Given the description of an element on the screen output the (x, y) to click on. 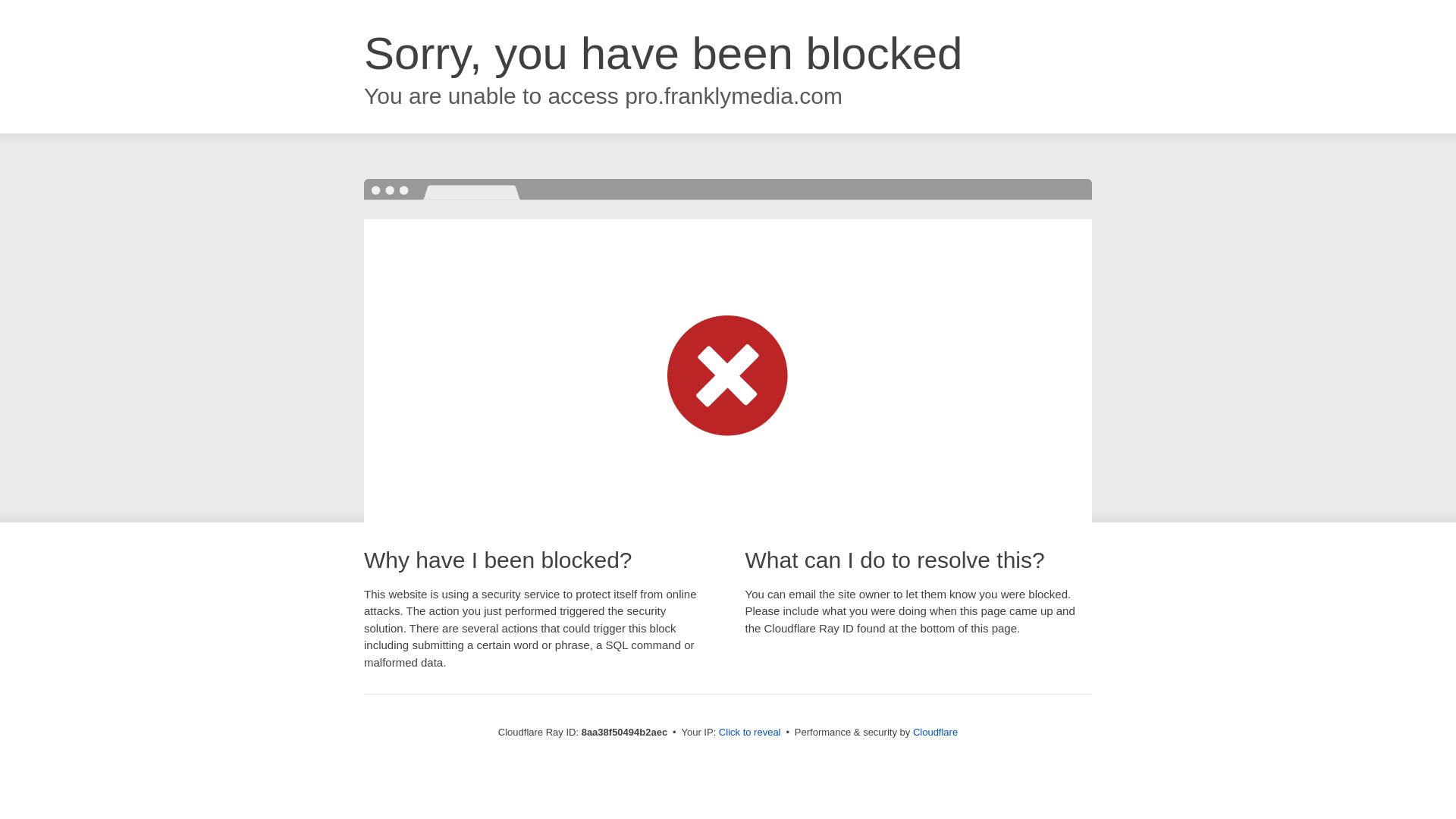
Cloudflare (935, 731)
Click to reveal (749, 732)
